Given the description of an element on the screen output the (x, y) to click on. 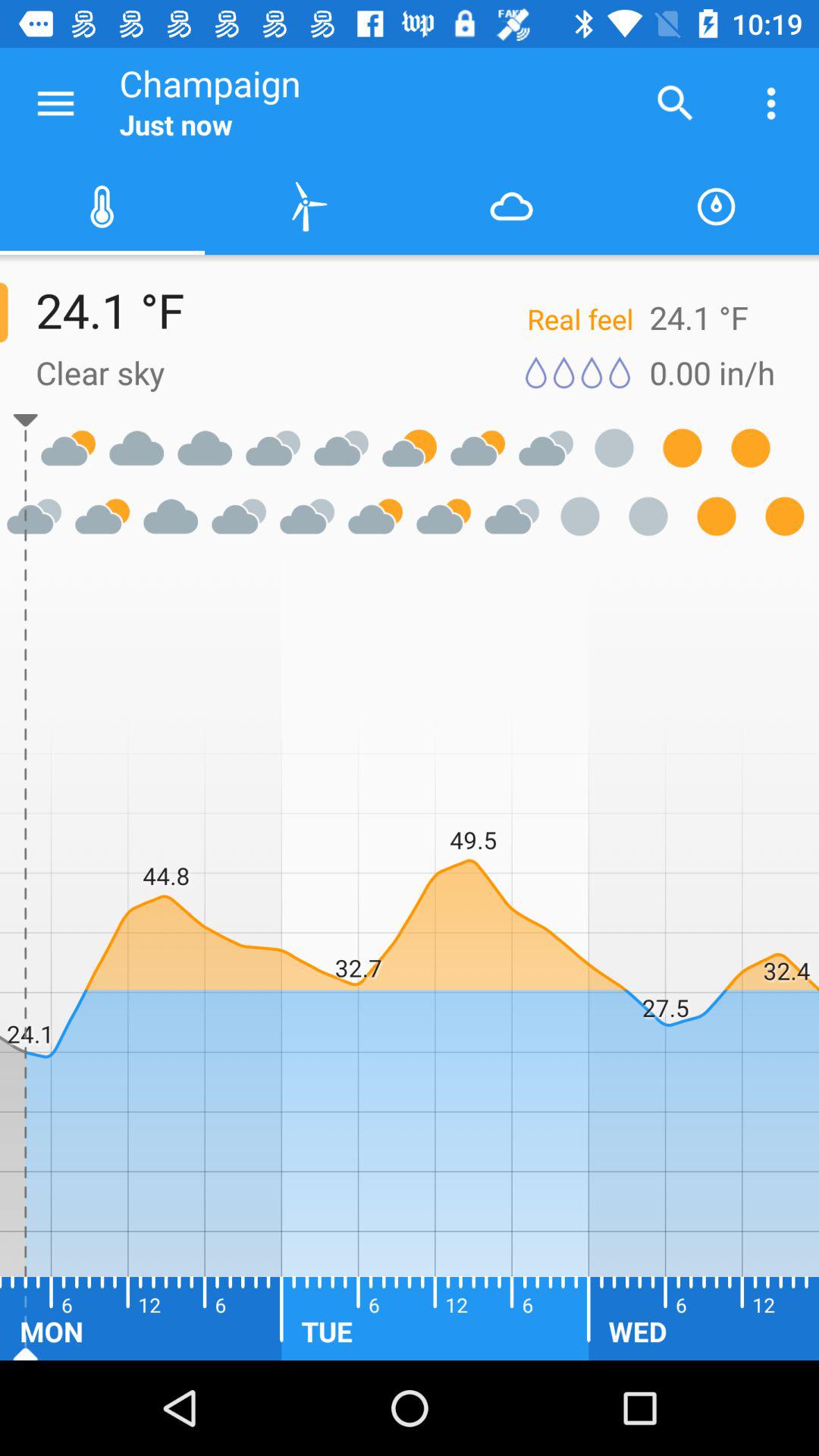
open the icon next to champaign icon (55, 103)
